Given the description of an element on the screen output the (x, y) to click on. 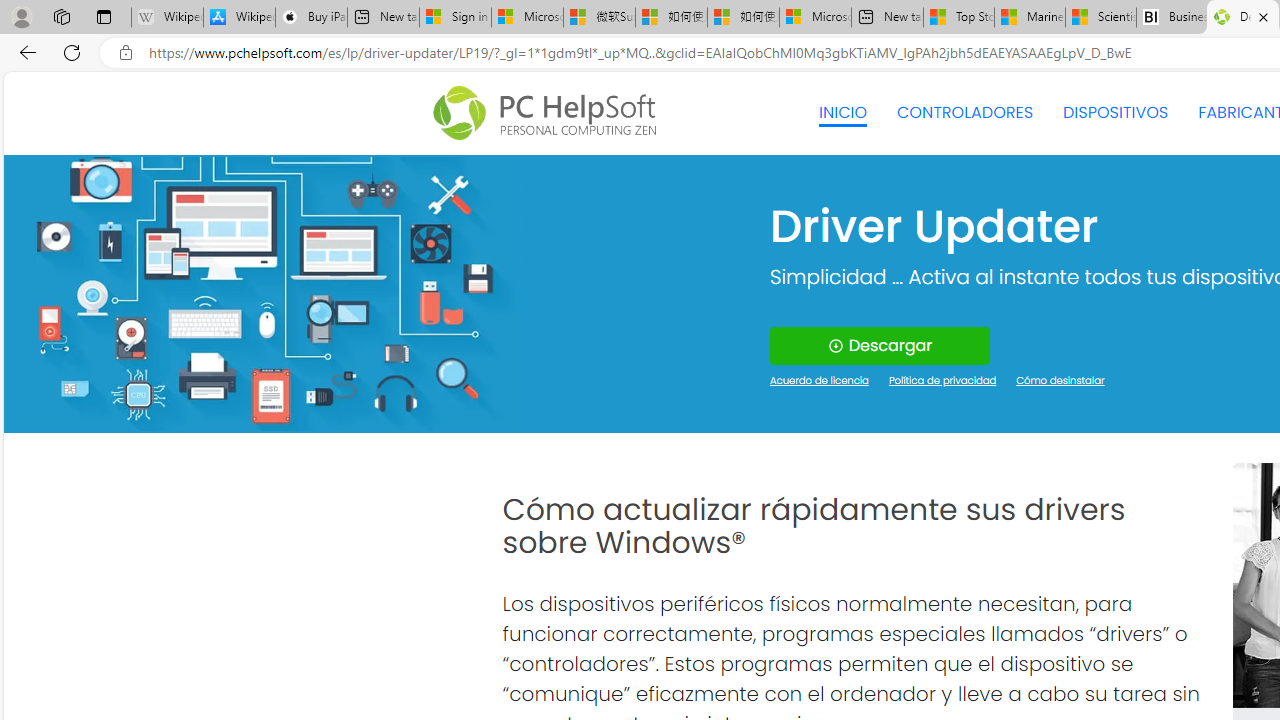
Microsoft account | Account Checkup (815, 17)
CONTROLADORES (965, 112)
DISPOSITIVOS (1115, 112)
CONTROLADORES (965, 112)
INICIO (842, 112)
Buy iPad - Apple (311, 17)
